Given the description of an element on the screen output the (x, y) to click on. 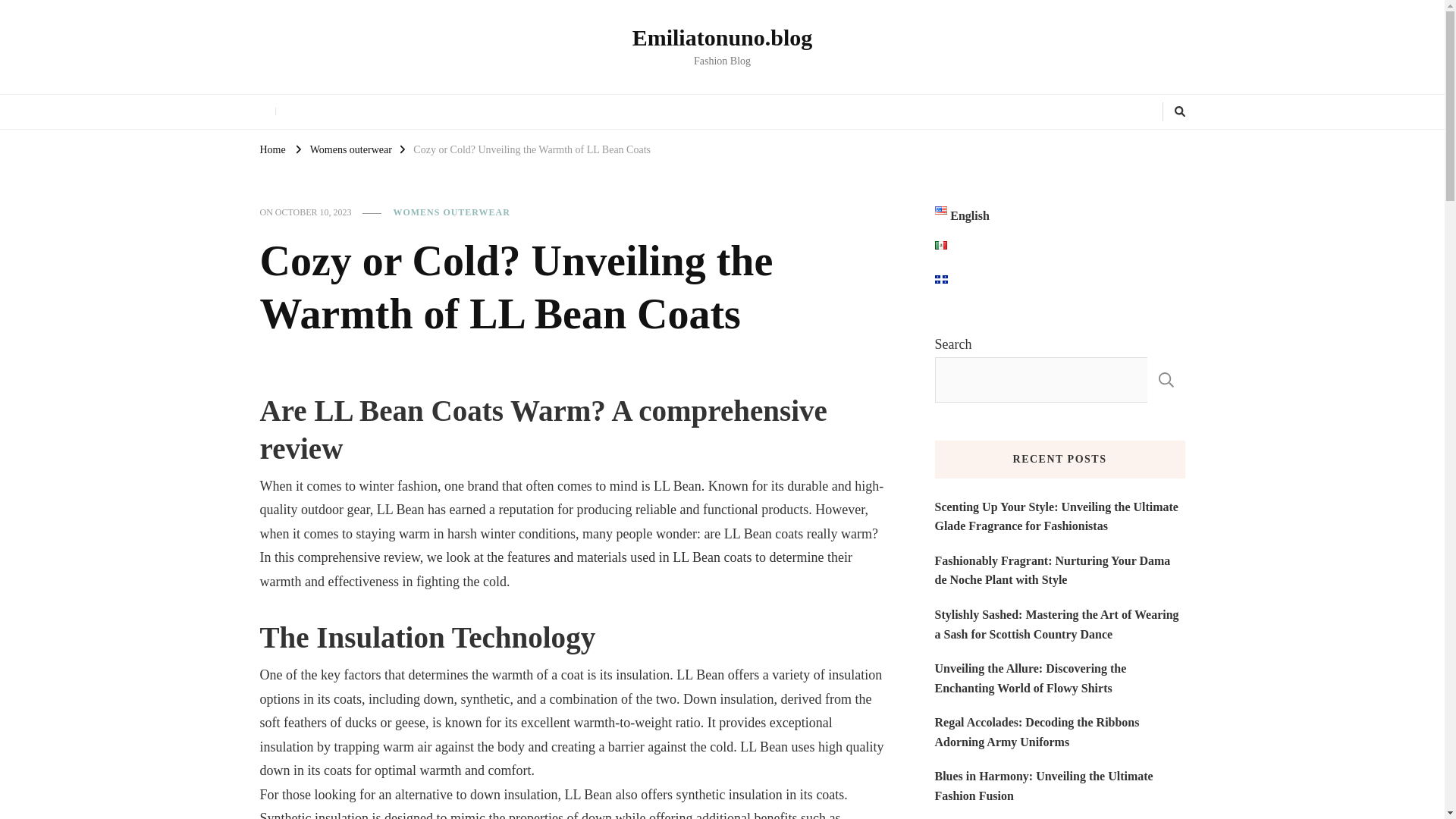
Search (1155, 111)
Home (272, 148)
Emiliatonuno.blog (721, 37)
Regal Accolades: Decoding the Ribbons Adorning Army Uniforms (1059, 731)
Blues in Harmony: Unveiling the Ultimate Fashion Fusion (1059, 785)
English (961, 216)
WOMENS OUTERWEAR (451, 213)
